Given the description of an element on the screen output the (x, y) to click on. 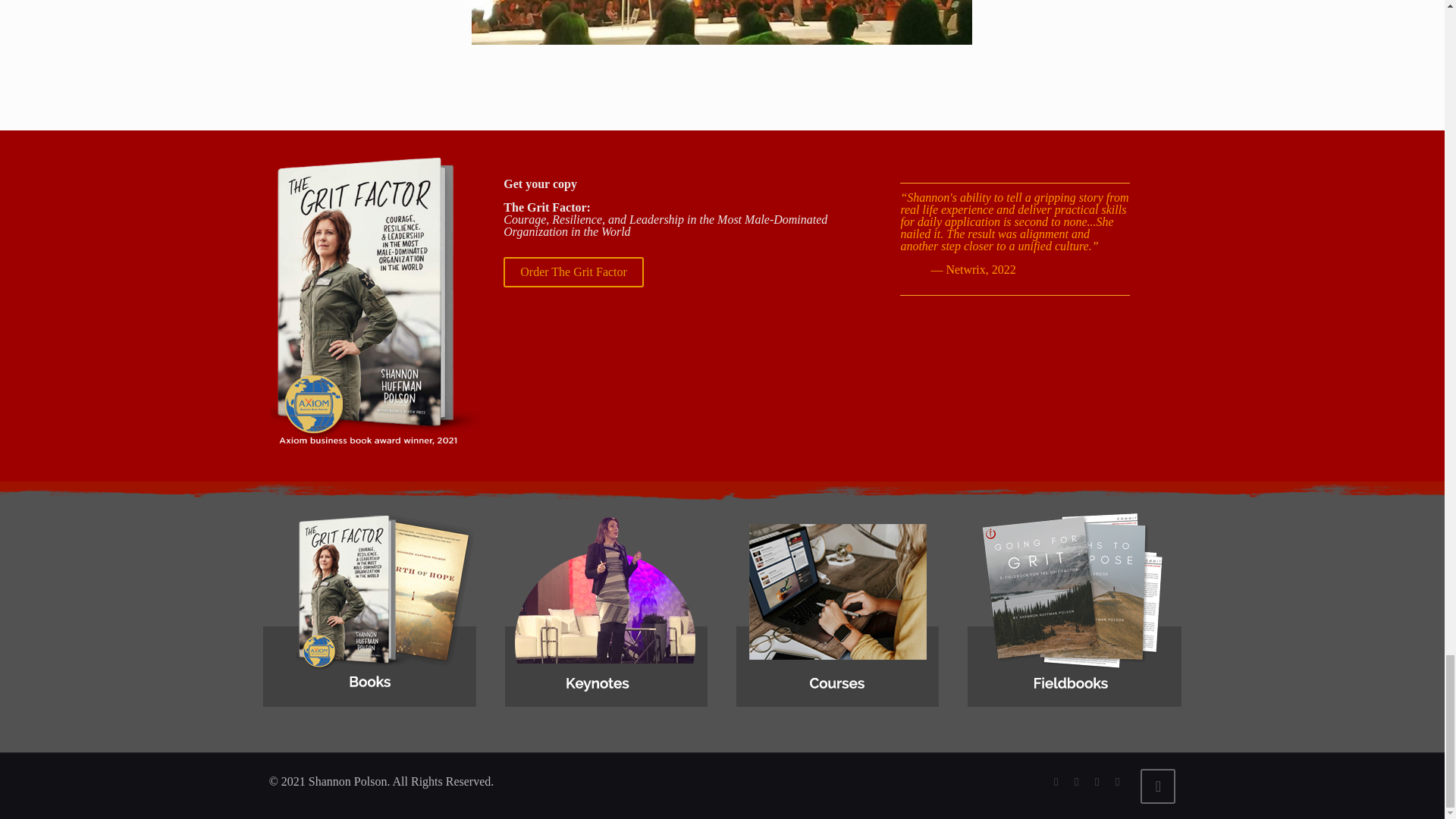
Instagram (1117, 781)
Order The Grit Factor (573, 272)
YouTube (1076, 781)
LinkedIn (1097, 781)
Twitter (1056, 781)
